Given the description of an element on the screen output the (x, y) to click on. 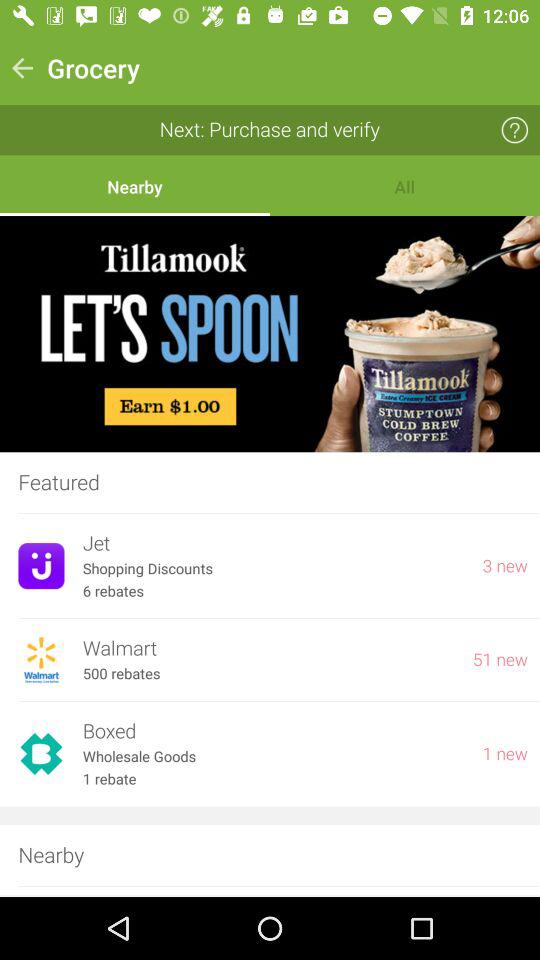
tap the item next to boxed item (505, 753)
